Given the description of an element on the screen output the (x, y) to click on. 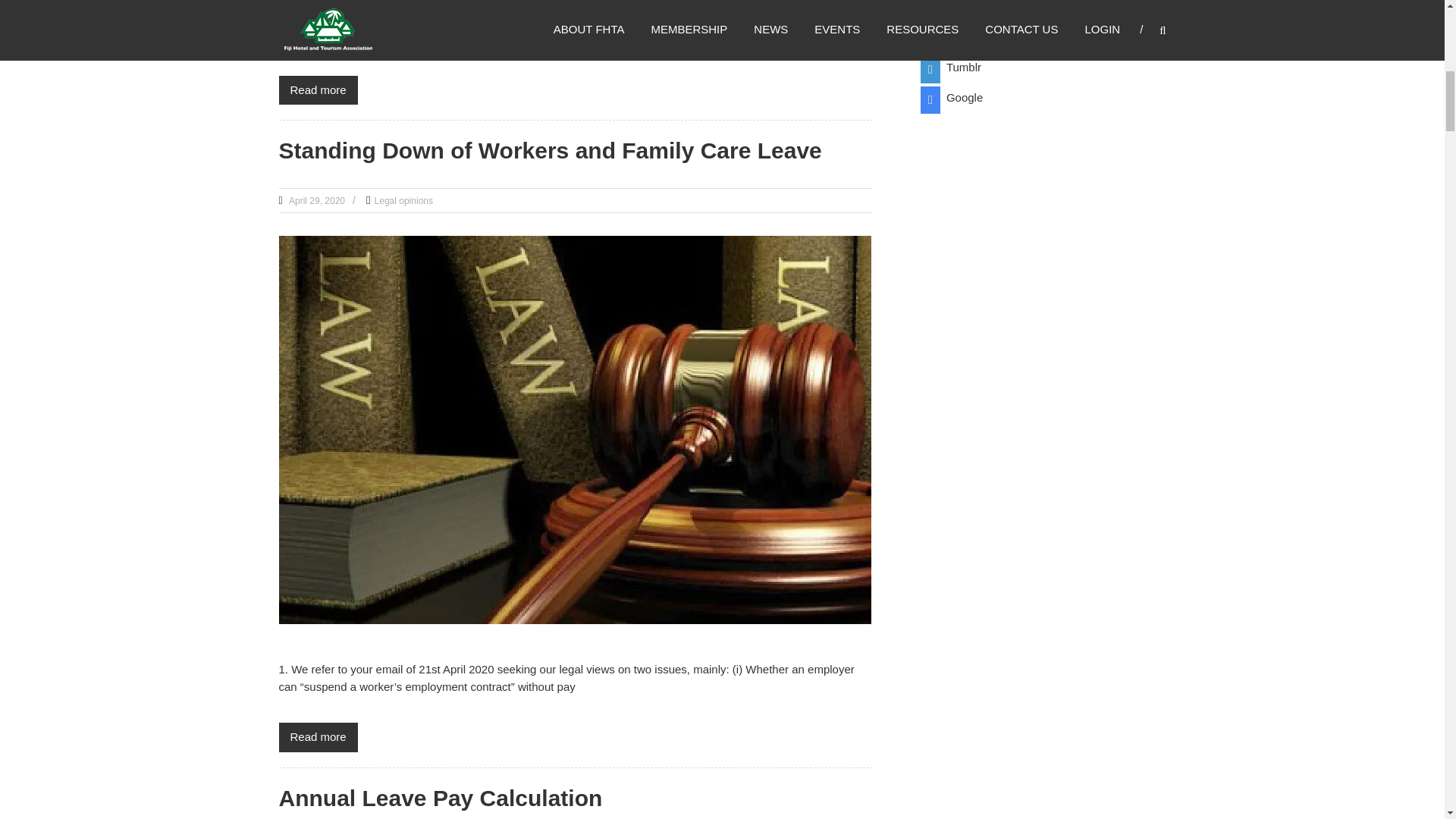
10:49 am (315, 200)
Standing Down of Workers and Family Care Leave (550, 150)
Standing Down of Workers and Family Care Leave (318, 737)
Annual Leave Pay Calculation (440, 797)
Legal Opinion on Wage Increase, Union Negotiation and ERP (318, 90)
Read more (318, 90)
